Given the description of an element on the screen output the (x, y) to click on. 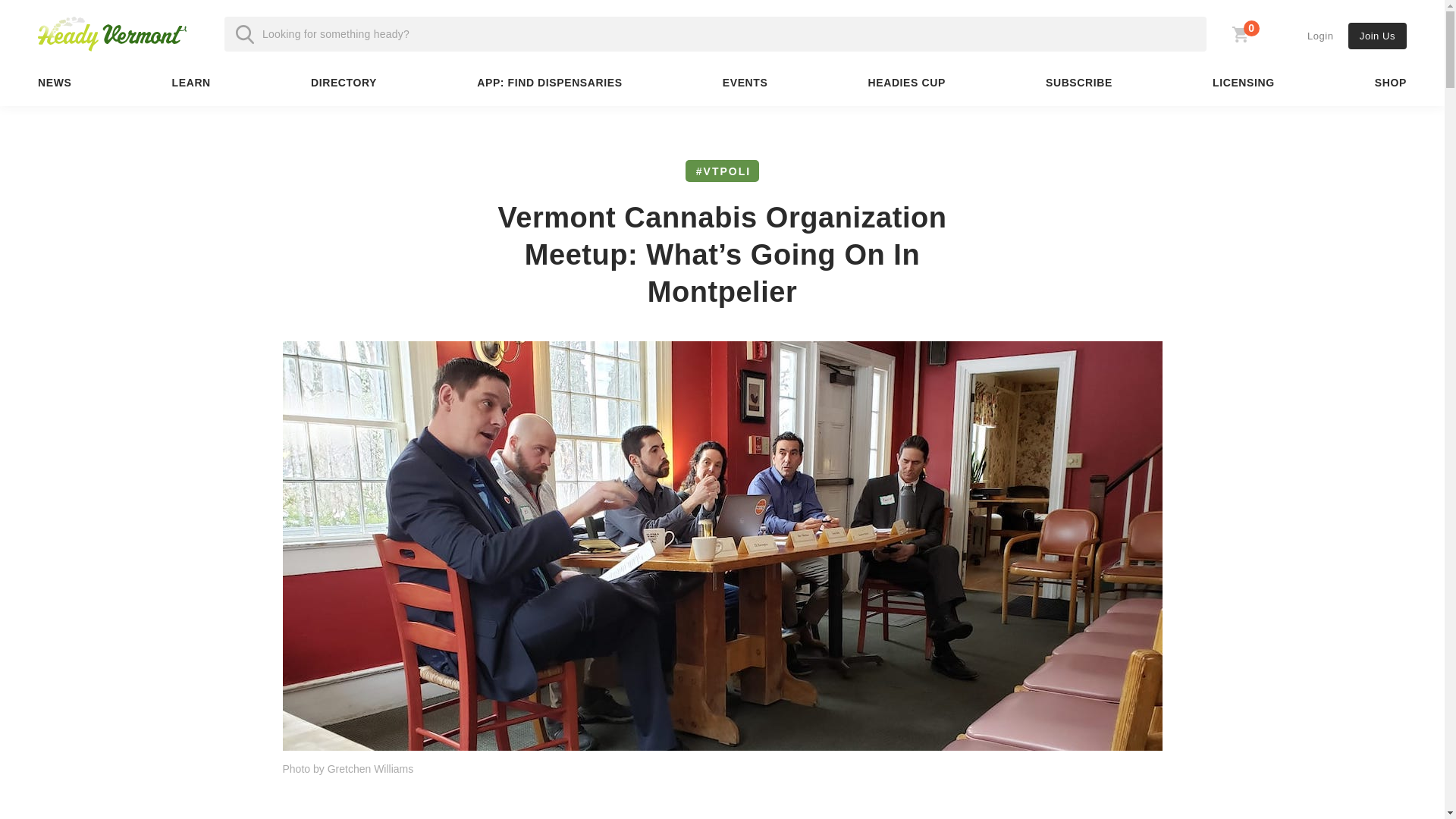
SUBSCRIBE (1078, 82)
HEADIES CUP (906, 82)
EVENTS (745, 82)
Join Us (1239, 38)
GO (1377, 35)
NEWS (235, 59)
LICENSING (54, 82)
LEARN (1243, 82)
DIRECTORY (191, 82)
Heady Vermont (343, 82)
Login (111, 33)
APP: FIND DISPENSARIES (1320, 35)
SHOP (549, 82)
